Given the description of an element on the screen output the (x, y) to click on. 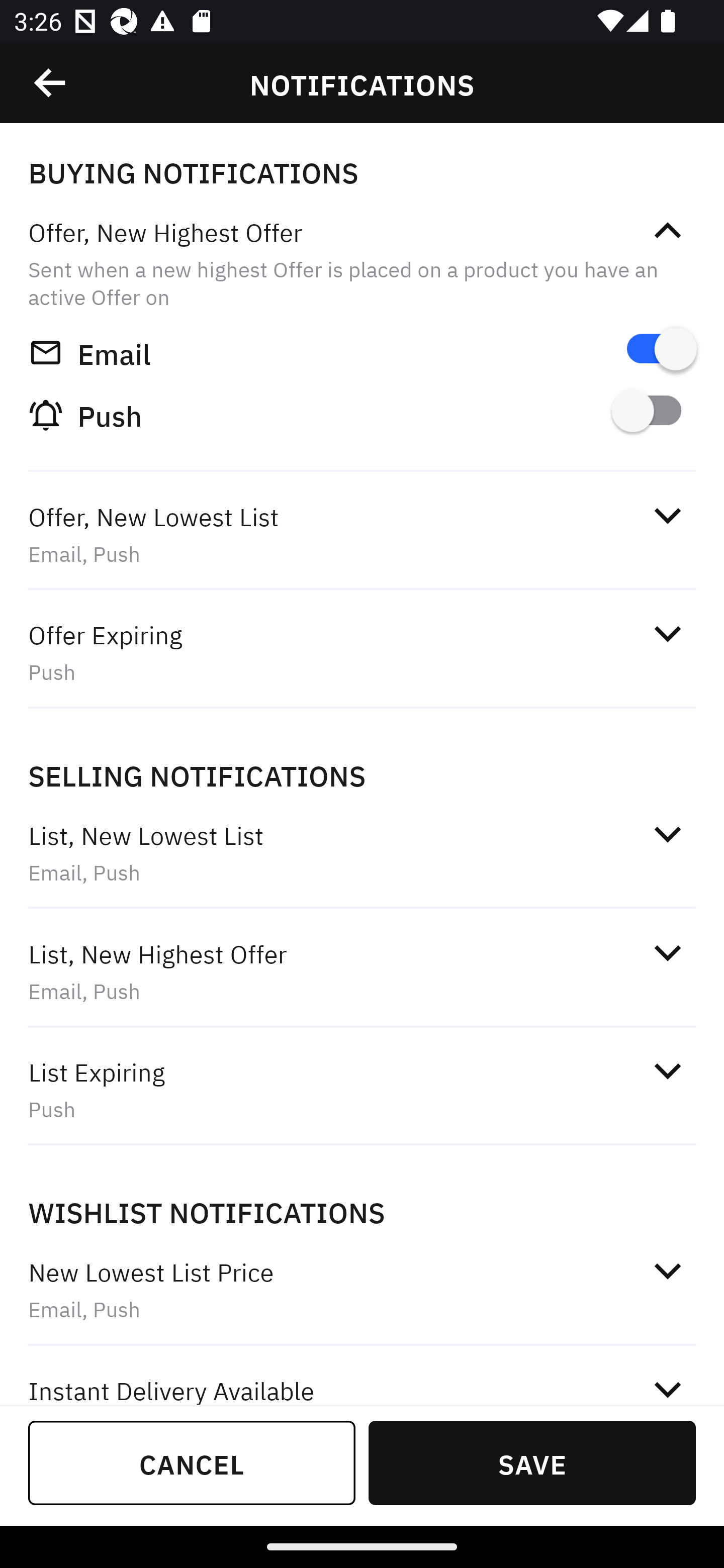
 (50, 83)
 (667, 231)
Offer, New Lowest List  Email, Push (361, 534)
 (667, 514)
Offer Expiring  Push (361, 652)
 (667, 633)
List, New Lowest List  Email, Push (361, 852)
 (667, 834)
List, New Highest Offer  Email, Push (361, 971)
 (667, 952)
List Expiring  Push (361, 1089)
 (667, 1070)
New Lowest List Price  Email, Push (361, 1290)
 (667, 1270)
Instant Delivery Available  (361, 1377)
 (667, 1385)
CANCEL (191, 1462)
SAVE (531, 1462)
